Given the description of an element on the screen output the (x, y) to click on. 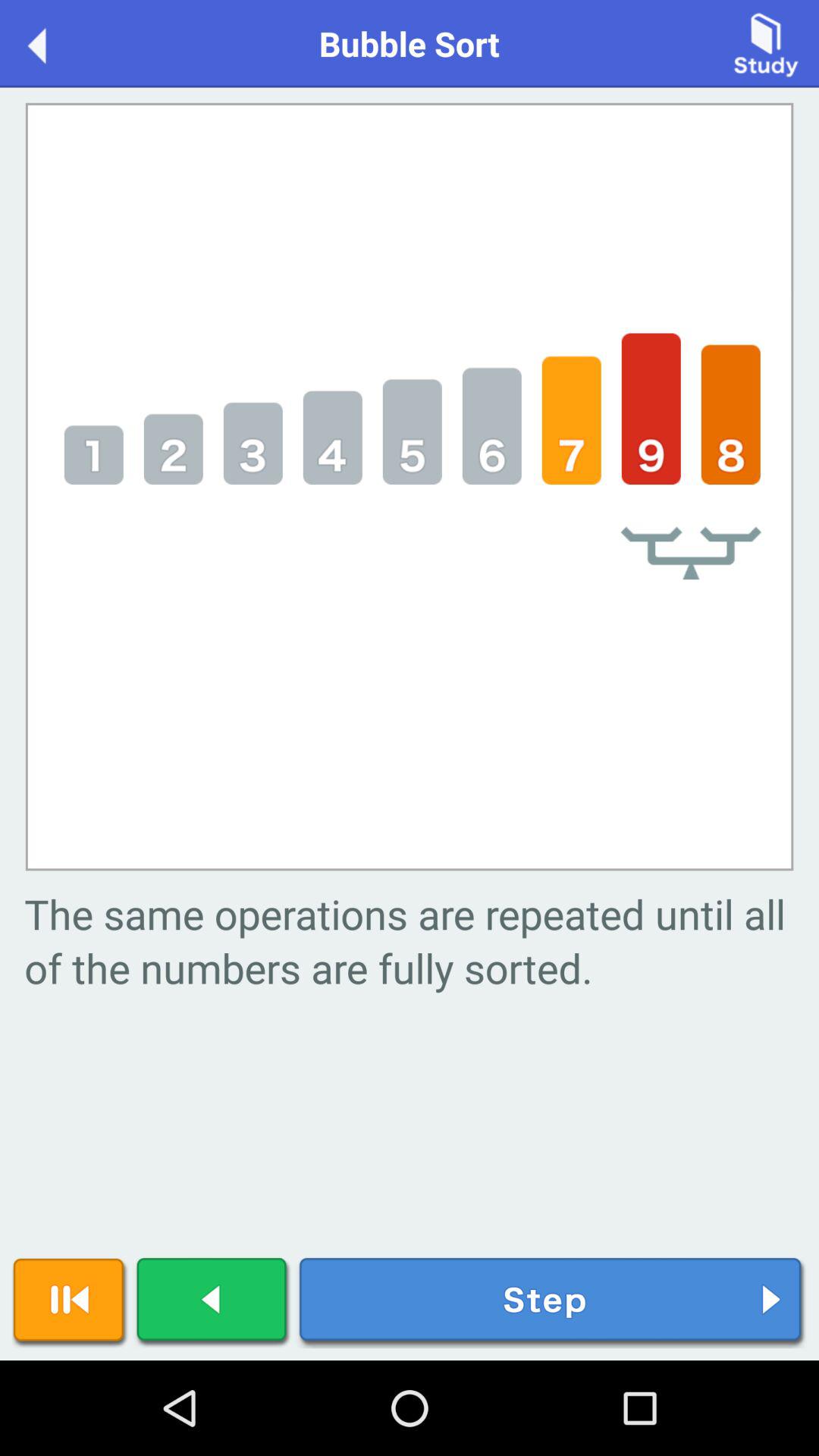
launch icon to the left of the bubble sort (52, 42)
